Given the description of an element on the screen output the (x, y) to click on. 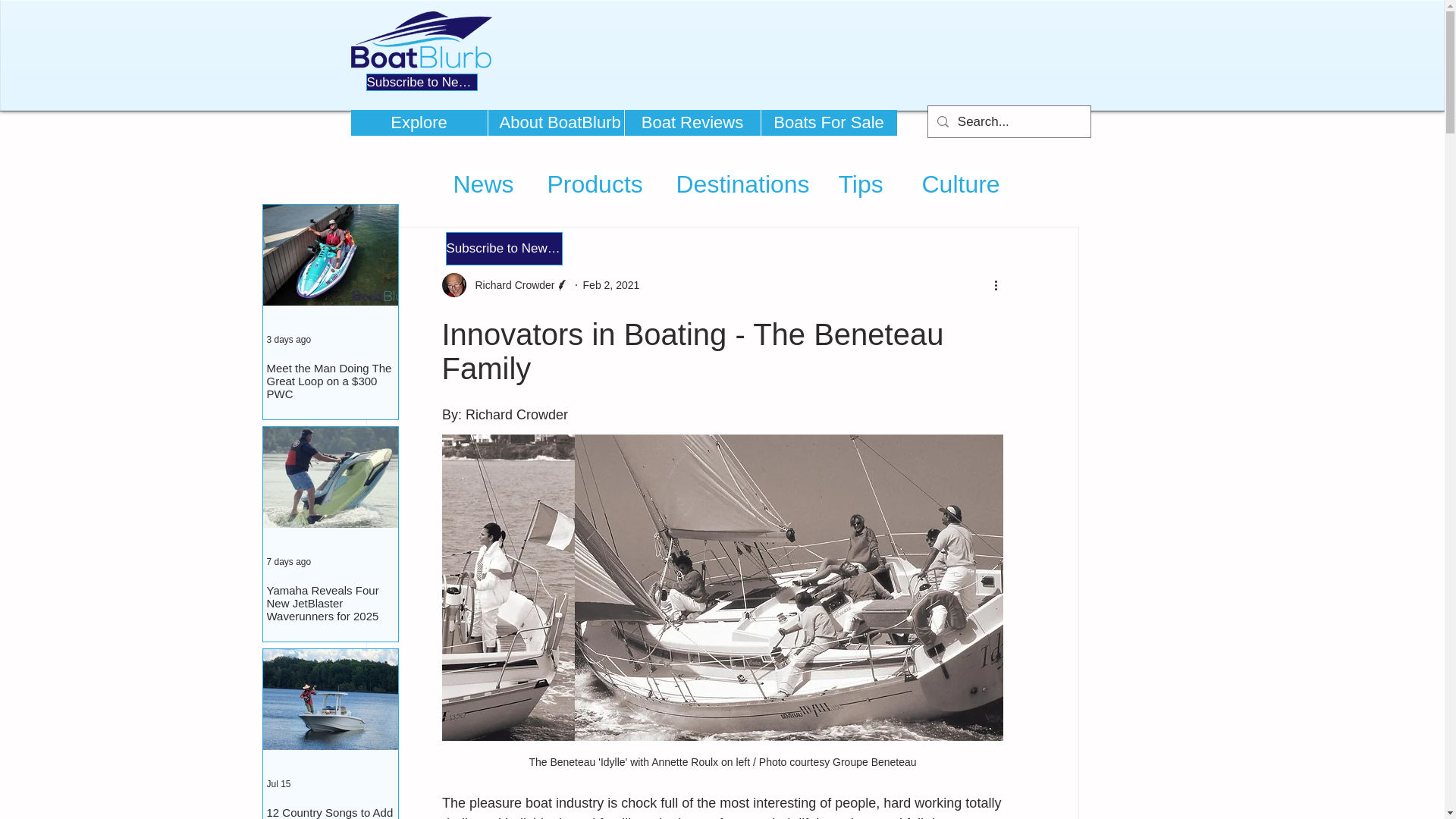
Destinations (743, 184)
Boat Reviews (691, 122)
Richard Crowder (509, 285)
Feb 2, 2021 (611, 285)
Explore (418, 122)
Culture (960, 184)
7 days ago (288, 561)
Tips (860, 184)
Richard Crowder (505, 284)
News (482, 184)
